Given the description of an element on the screen output the (x, y) to click on. 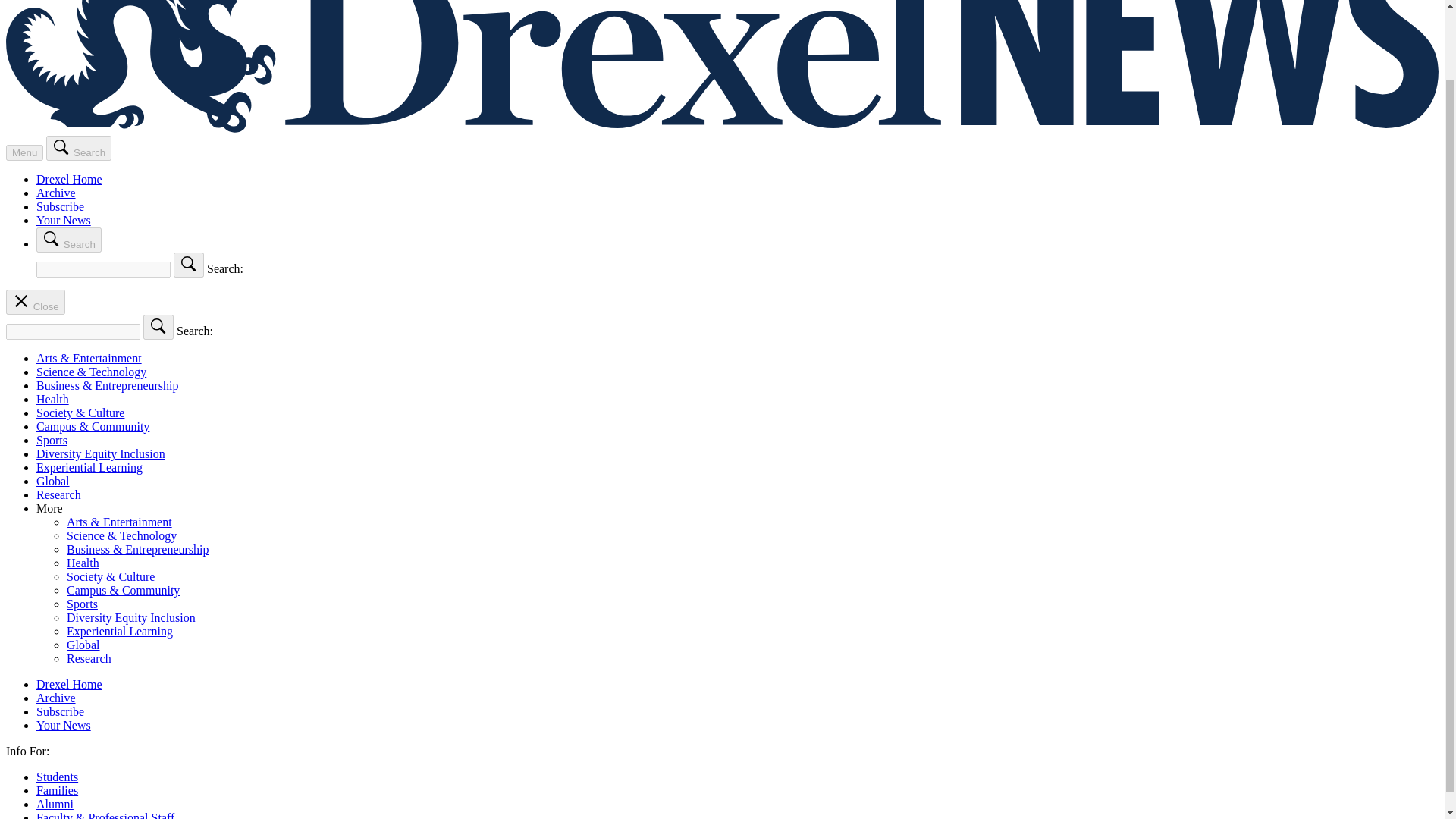
Global (83, 644)
Diversity Equity Inclusion (100, 453)
Experiential Learning (119, 631)
Your News (63, 219)
Health (82, 562)
Menu (24, 152)
Experiential Learning (89, 467)
Your News (63, 725)
Health (52, 399)
Close (35, 301)
Sports (81, 603)
Drexel Home (68, 684)
Global (52, 481)
Research (89, 658)
Subscribe (60, 205)
